Given the description of an element on the screen output the (x, y) to click on. 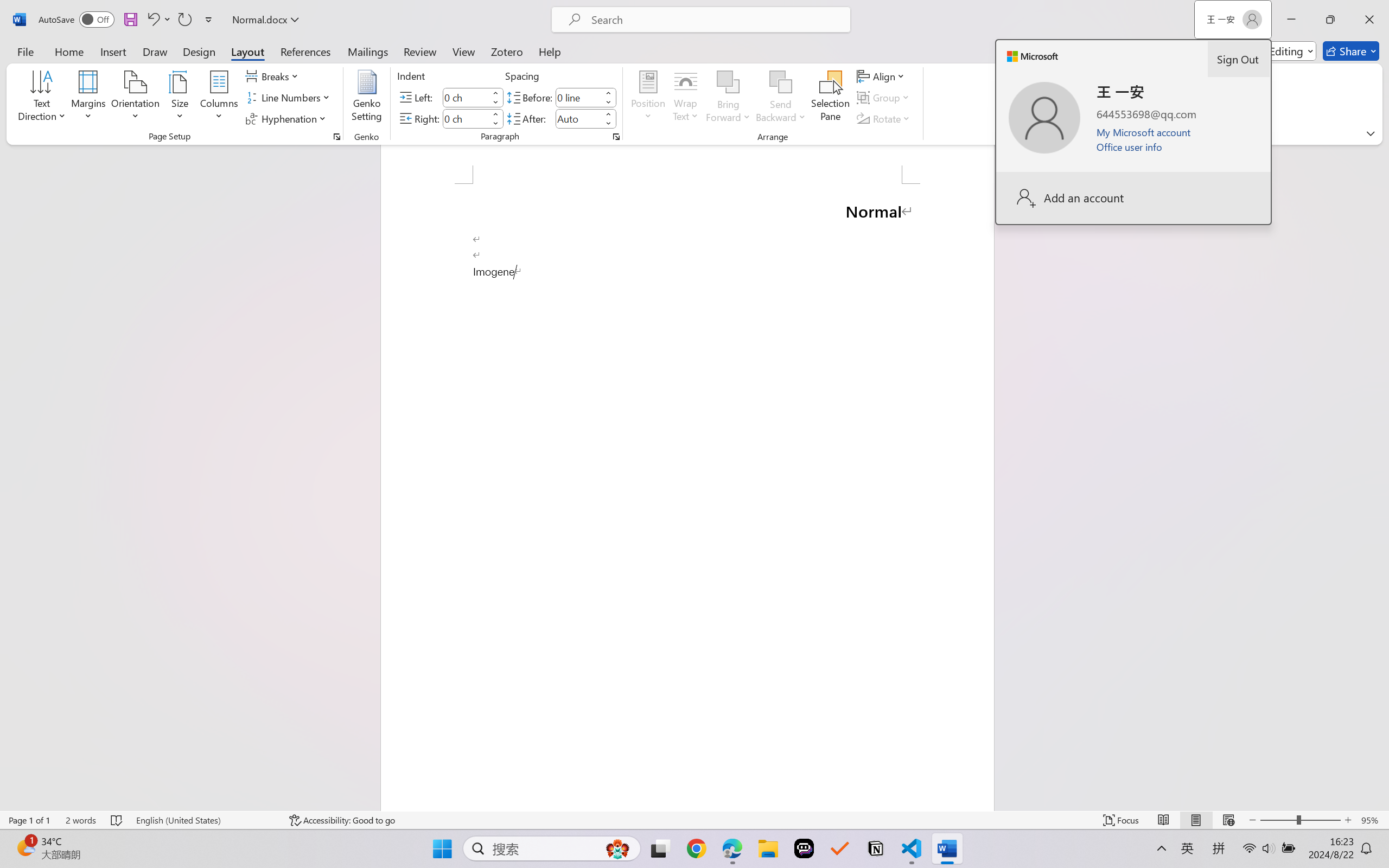
Paragraph... (615, 136)
Spacing After (578, 118)
Page 1 content (687, 497)
Notion (875, 848)
